Given the description of an element on the screen output the (x, y) to click on. 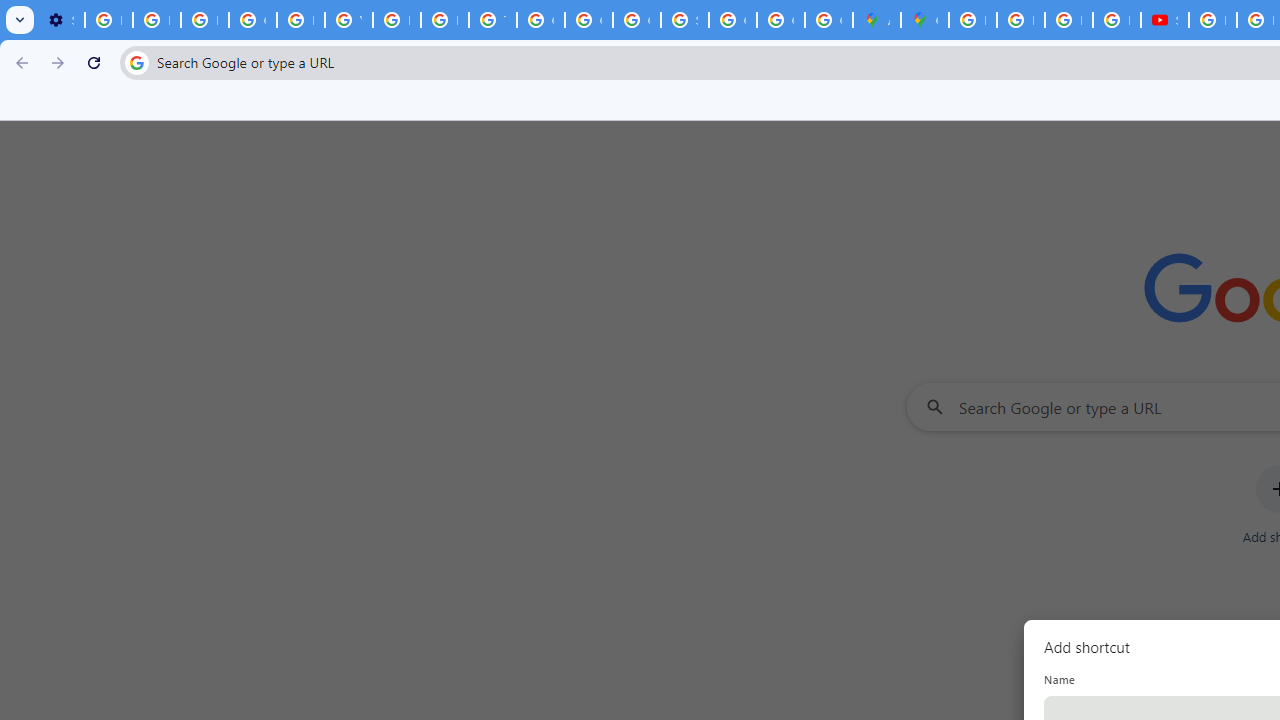
Learn how to find your photos - Google Photos Help (156, 20)
How Chrome protects your passwords - Google Chrome Help (1212, 20)
Privacy Help Center - Policies Help (444, 20)
Settings - Customize profile (60, 20)
Privacy Help Center - Policies Help (1068, 20)
https://scholar.google.com/ (396, 20)
Google Maps (924, 20)
